Given the description of an element on the screen output the (x, y) to click on. 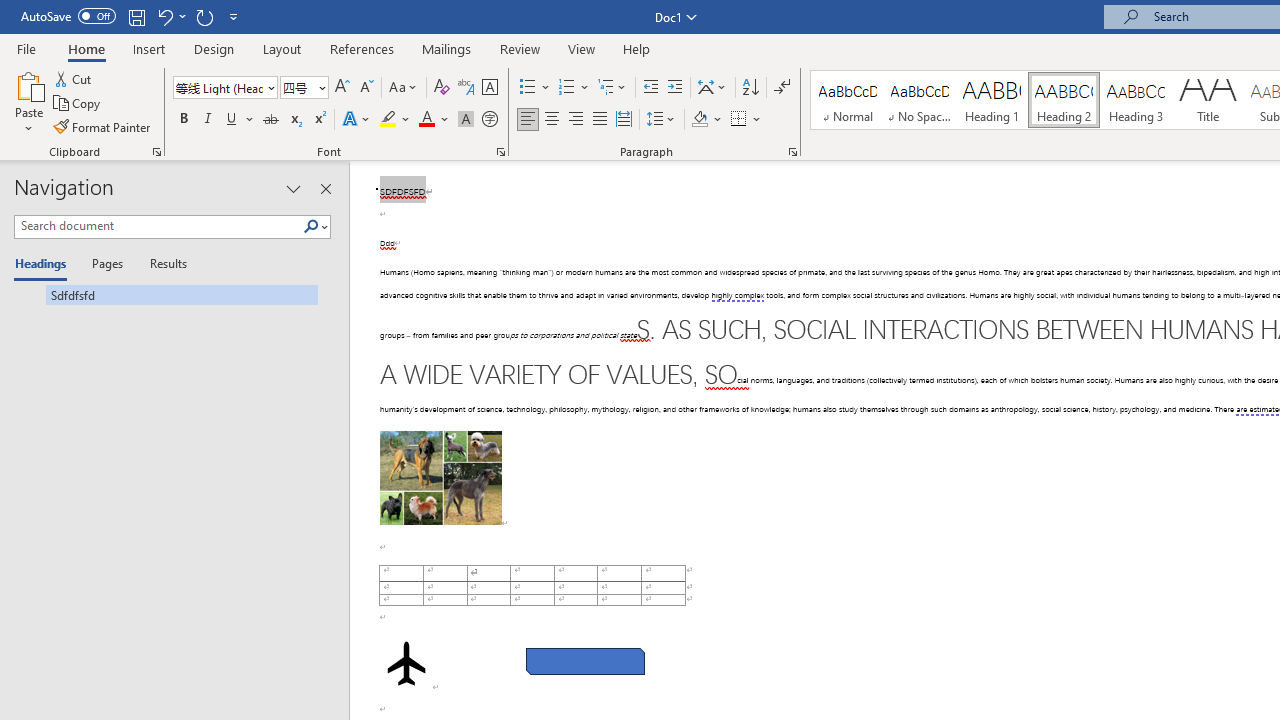
Repeat Style (204, 15)
